Given the description of an element on the screen output the (x, y) to click on. 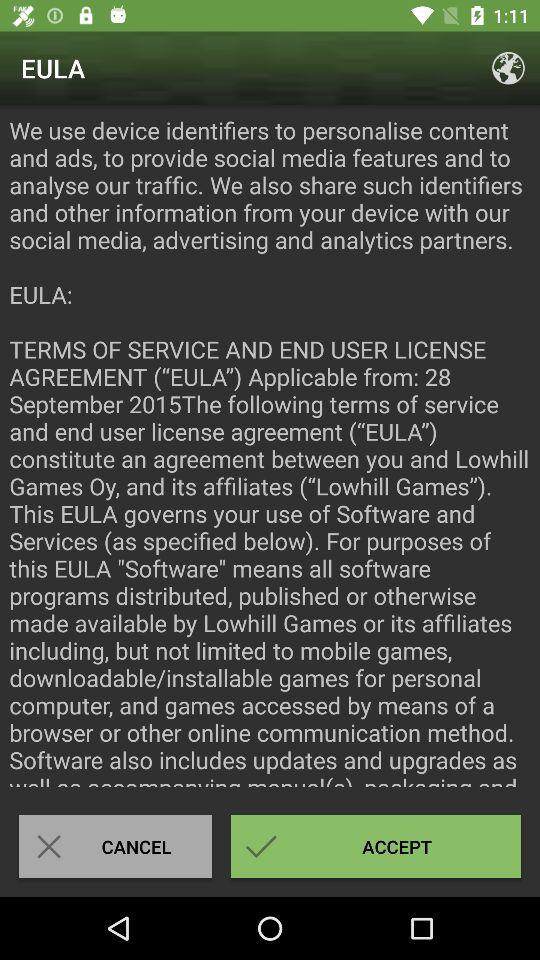
turn off the app to the right of eula icon (508, 67)
